Given the description of an element on the screen output the (x, y) to click on. 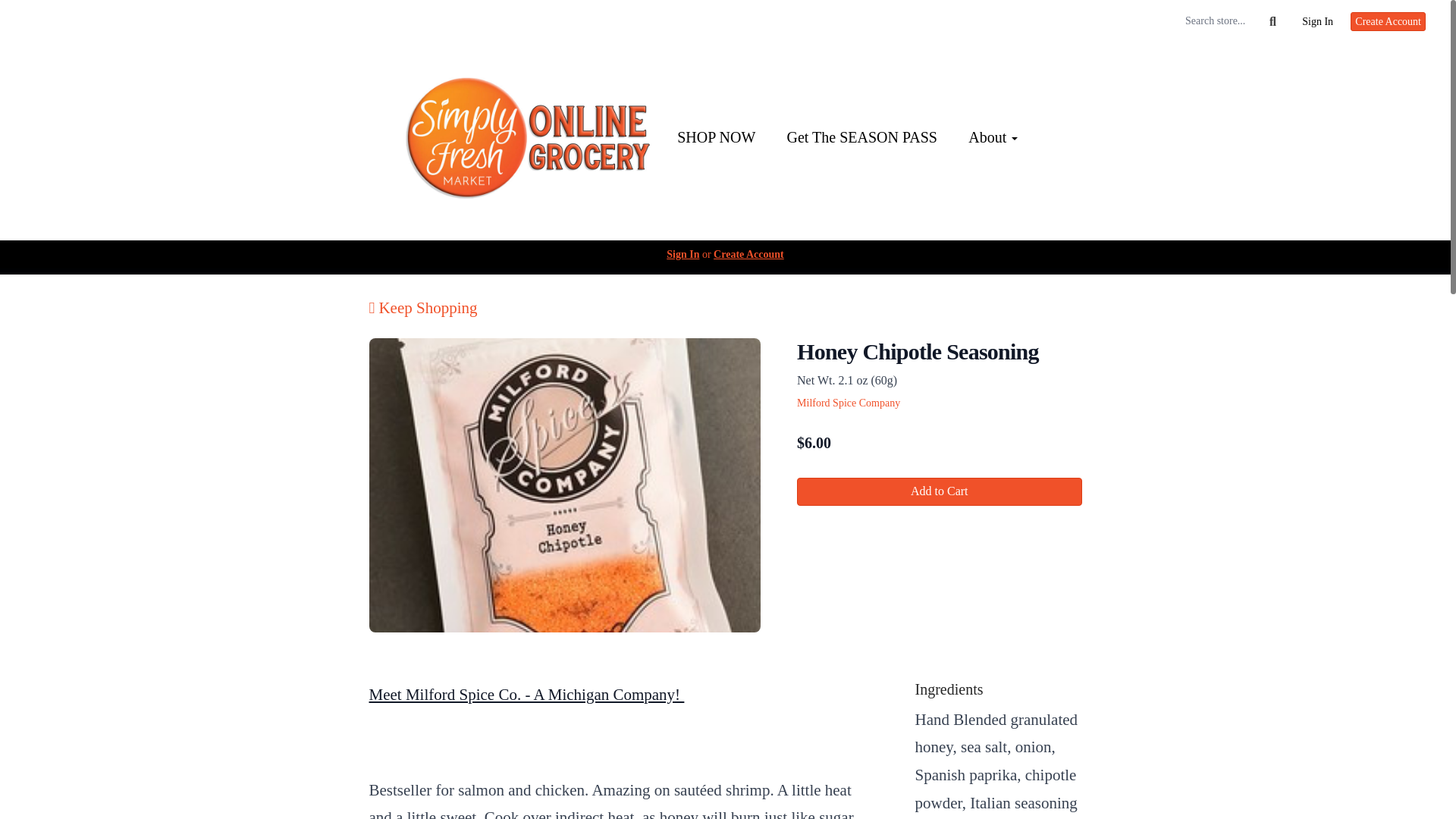
SHOP NOW (715, 137)
Milford Spice Company (847, 402)
Create Account (1388, 21)
About (992, 137)
Add to Cart (938, 491)
Keep Shopping (422, 307)
Create Account (748, 254)
Sign In (682, 254)
Sign In (1317, 21)
Get The SEASON PASS (861, 137)
Meet Milford Spice Co. - A Michigan Company!  (526, 694)
